Given the description of an element on the screen output the (x, y) to click on. 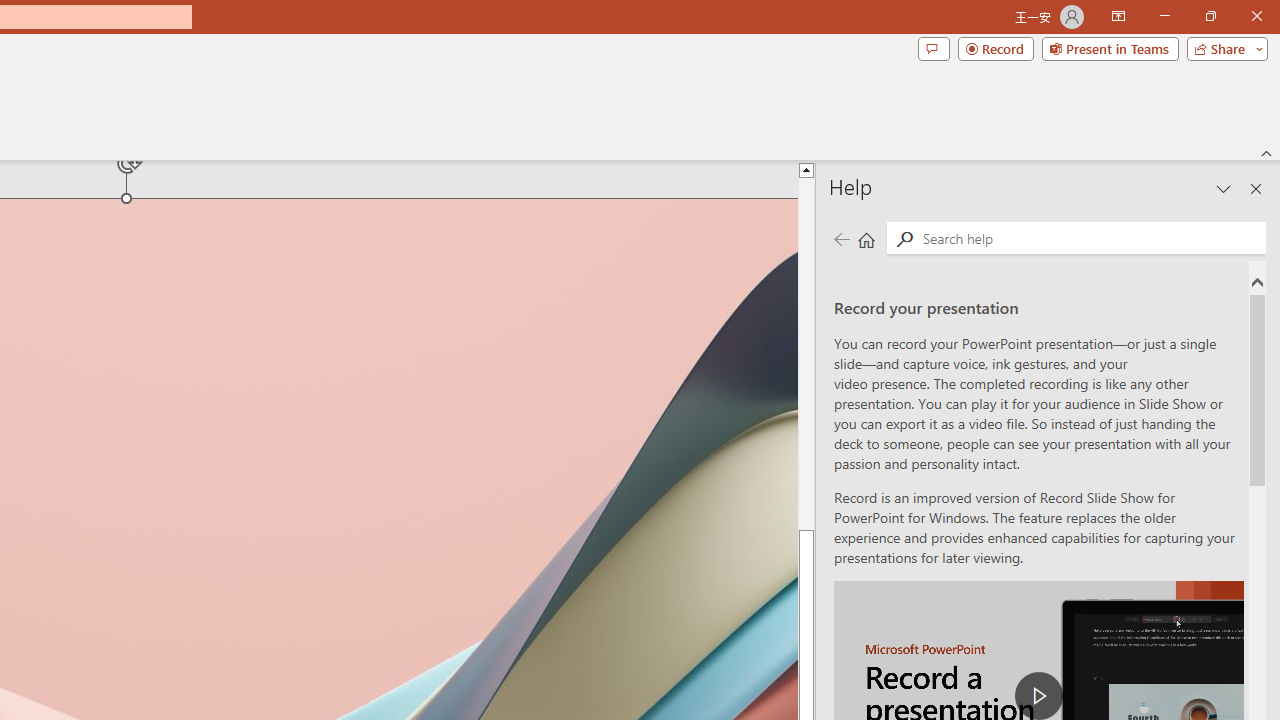
Close (1256, 16)
Present in Teams (1109, 48)
Page up (806, 353)
play Record a Presentation (1038, 695)
